Given the description of an element on the screen output the (x, y) to click on. 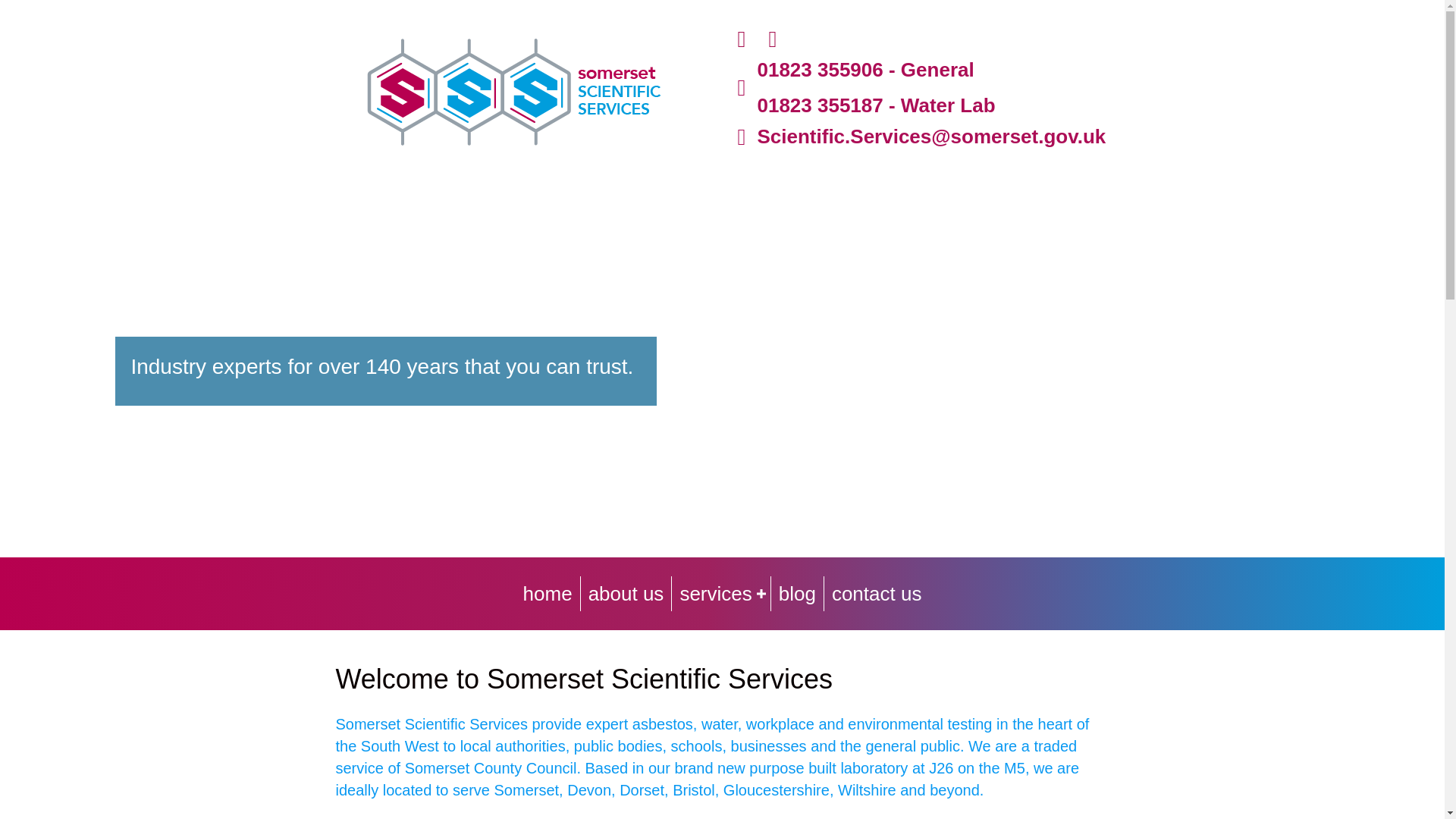
contact us (877, 593)
services (720, 593)
blog (797, 593)
about us (625, 593)
Somerset Scientific Services logo 2 (513, 91)
home (547, 593)
